Given the description of an element on the screen output the (x, y) to click on. 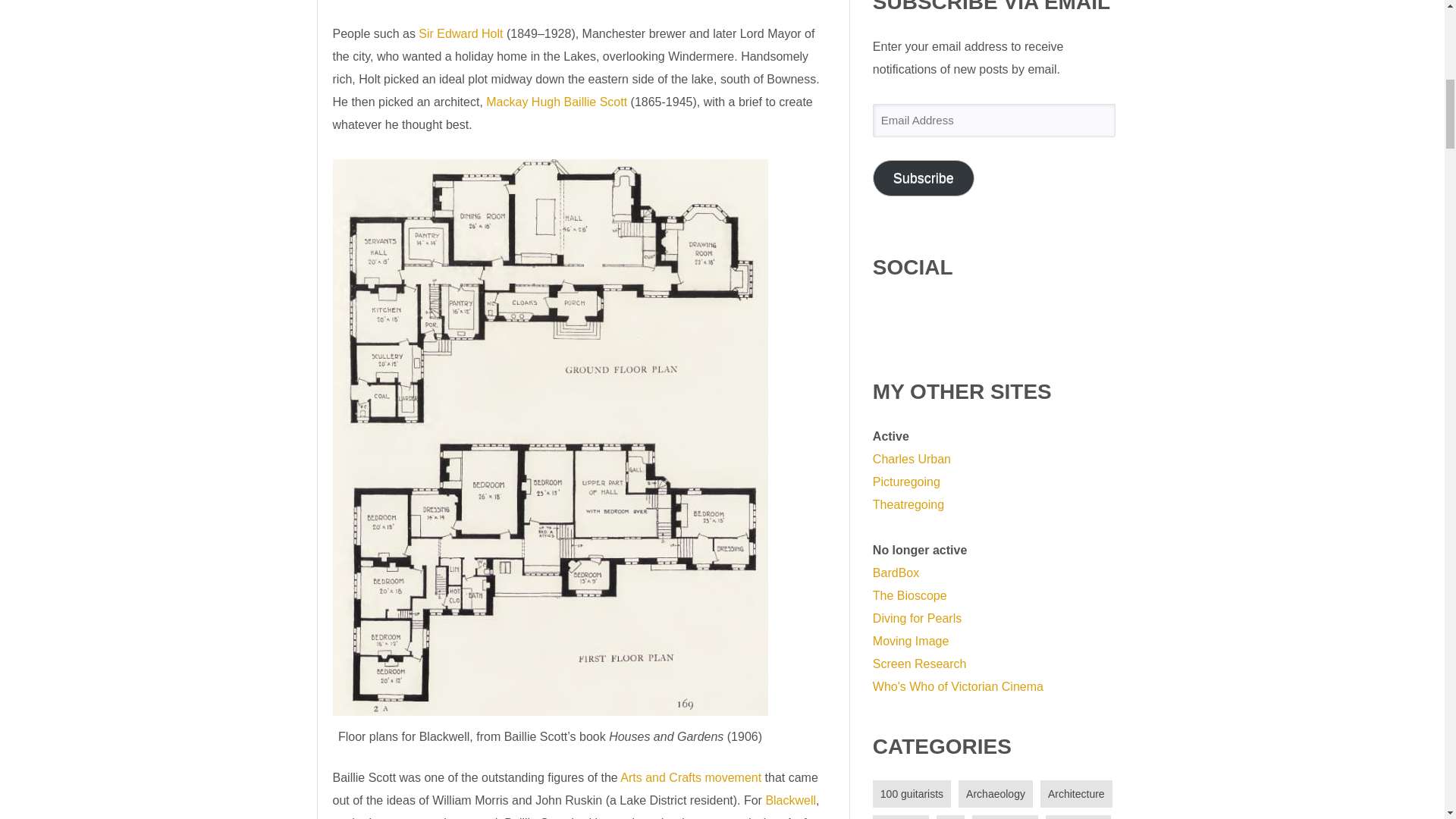
Mackay Hugh Baillie Scott (556, 101)
Sir Edward Holt (460, 33)
Arts and Crafts movement (690, 777)
Blackwell (790, 799)
